Given the description of an element on the screen output the (x, y) to click on. 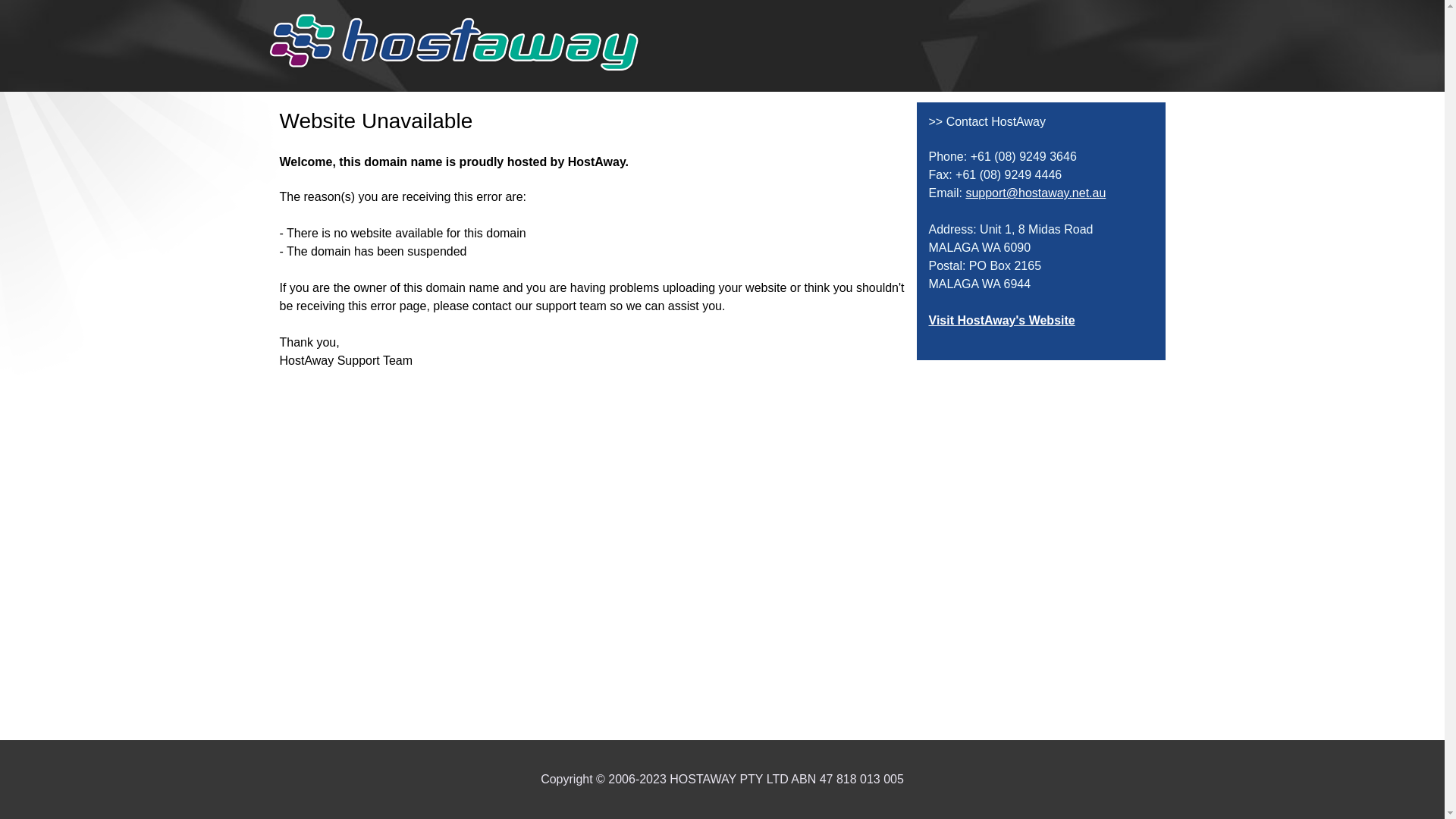
Visit HostAway's Website Element type: text (1001, 319)
support@hostaway.net.au Element type: text (1035, 192)
